Given the description of an element on the screen output the (x, y) to click on. 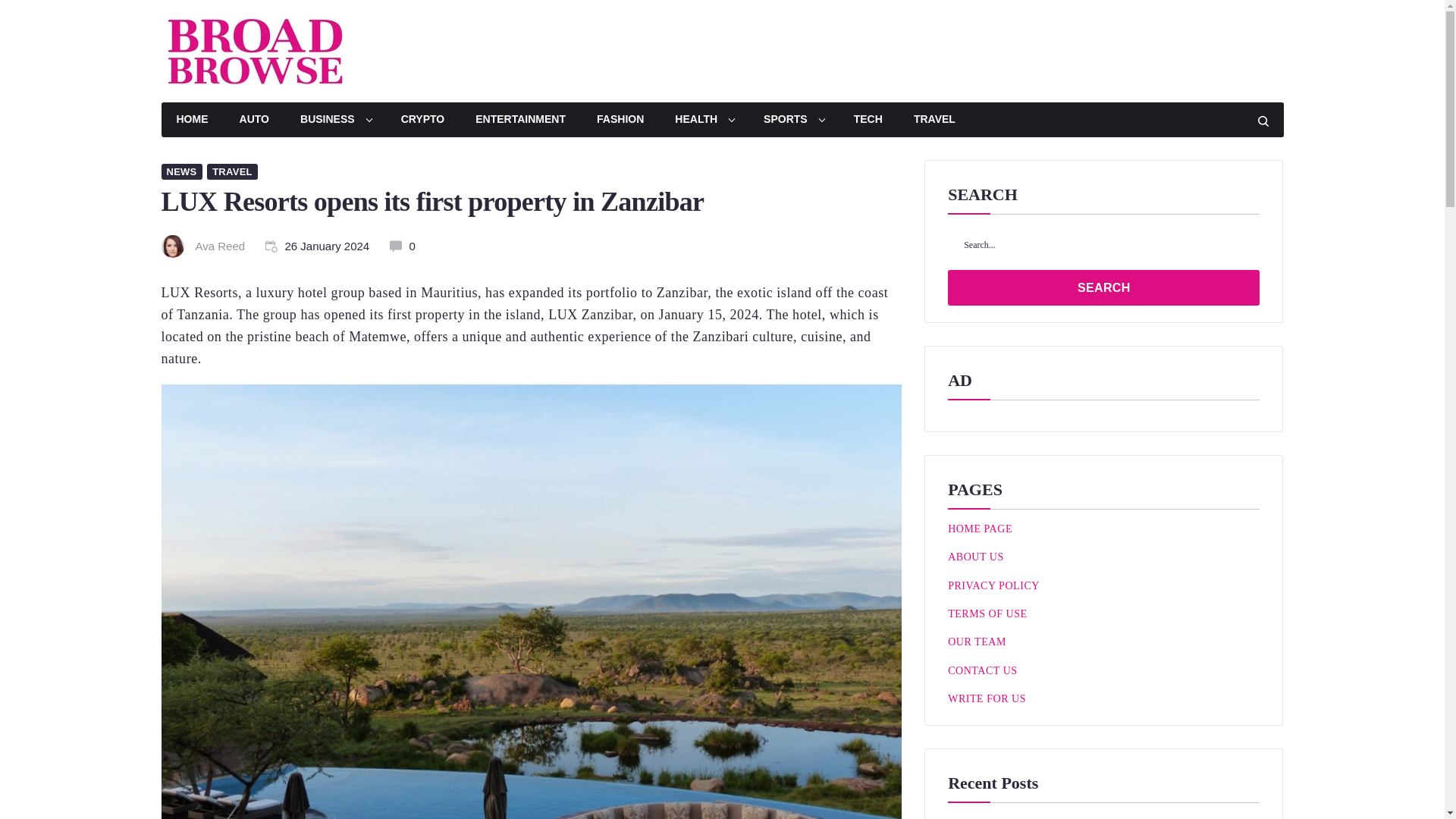
NEWS (181, 171)
ENTERTAINMENT (520, 119)
SPORTS (793, 119)
HEALTH (703, 119)
HOME (191, 119)
FASHION (619, 119)
CRYPTO (422, 119)
TECH (868, 119)
BUSINESS (335, 119)
TRAVEL (231, 171)
